Given the description of an element on the screen output the (x, y) to click on. 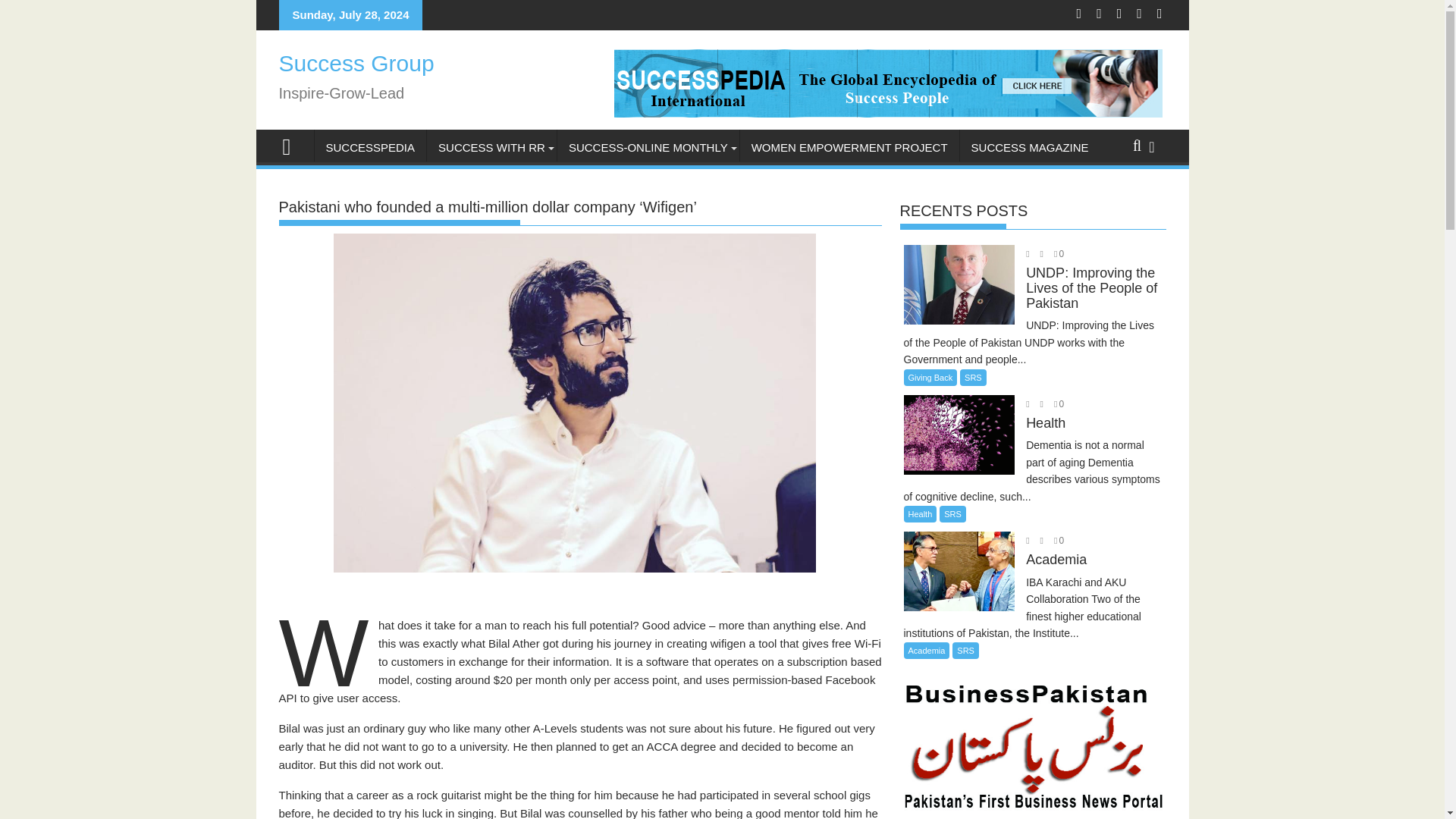
Success Group (293, 145)
SUCCESSPEDIA (370, 147)
SUCCESS WITH RR (491, 147)
SUCCESS MAGAZINE (1029, 147)
WOMEN EMPOWERMENT PROJECT (849, 147)
Success Group (356, 63)
SUCCESS-ONLINE MONTHLY (648, 147)
